Given the description of an element on the screen output the (x, y) to click on. 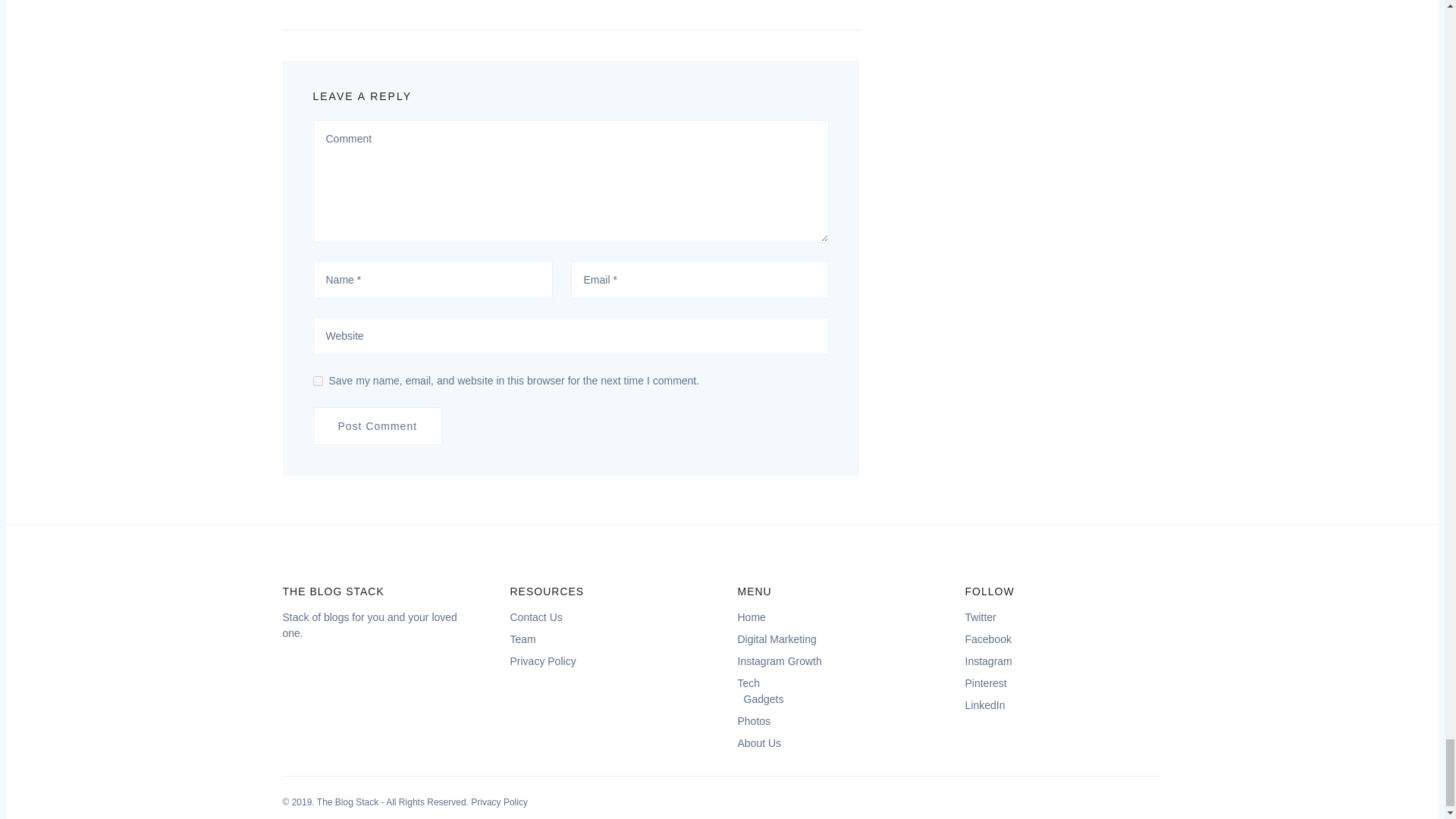
yes (317, 381)
Post Comment (377, 426)
